Given the description of an element on the screen output the (x, y) to click on. 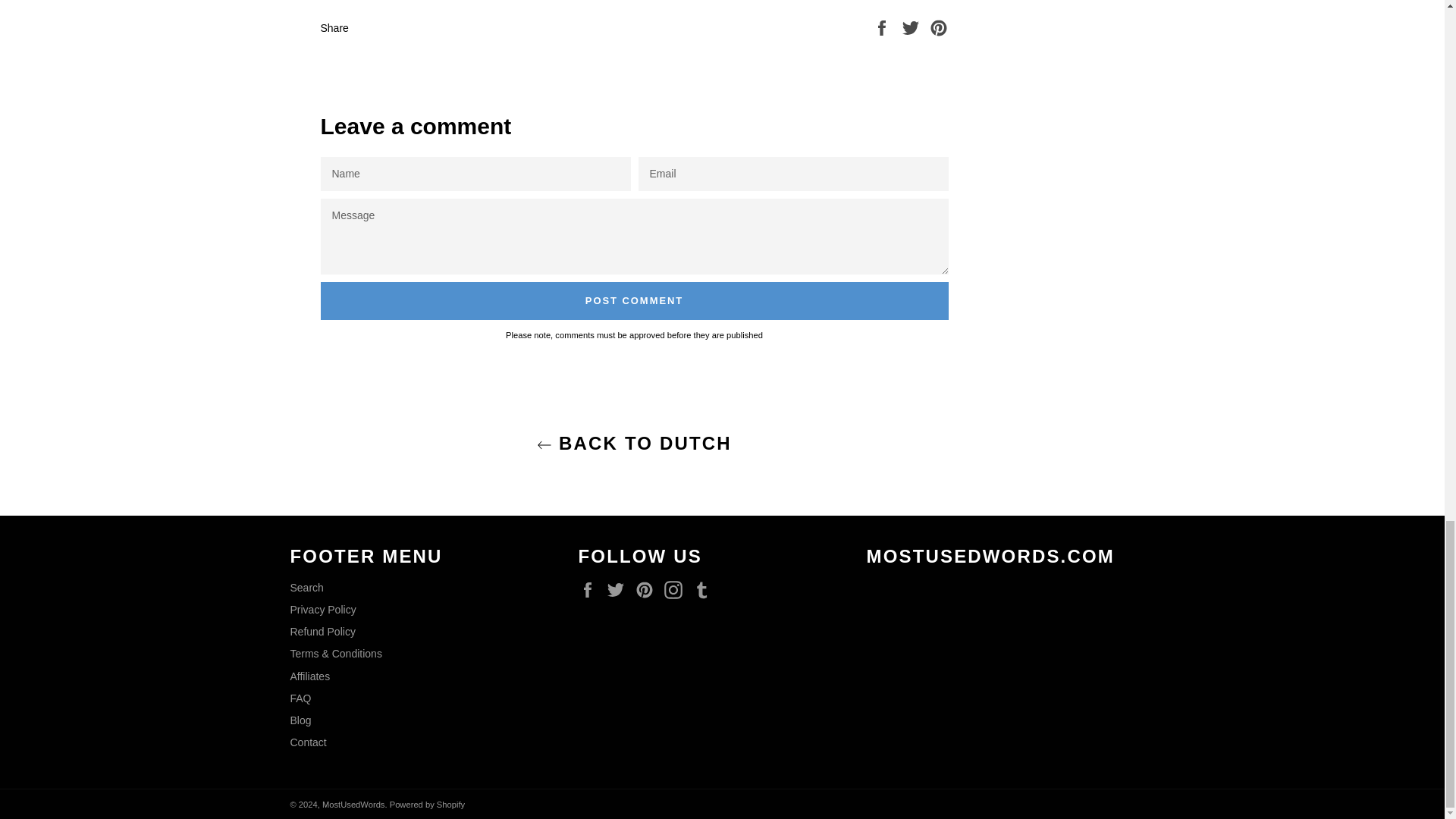
MostUsedWords on Instagram (676, 589)
MostUsedWords on Pinterest (647, 589)
Post comment (633, 300)
Tweet on Twitter (912, 27)
Pin on Pinterest (938, 27)
MostUsedWords on Facebook (591, 589)
Share on Facebook (882, 27)
MostUsedWords on Twitter (619, 589)
MostUsedWords on Tumblr (706, 589)
